Given the description of an element on the screen output the (x, y) to click on. 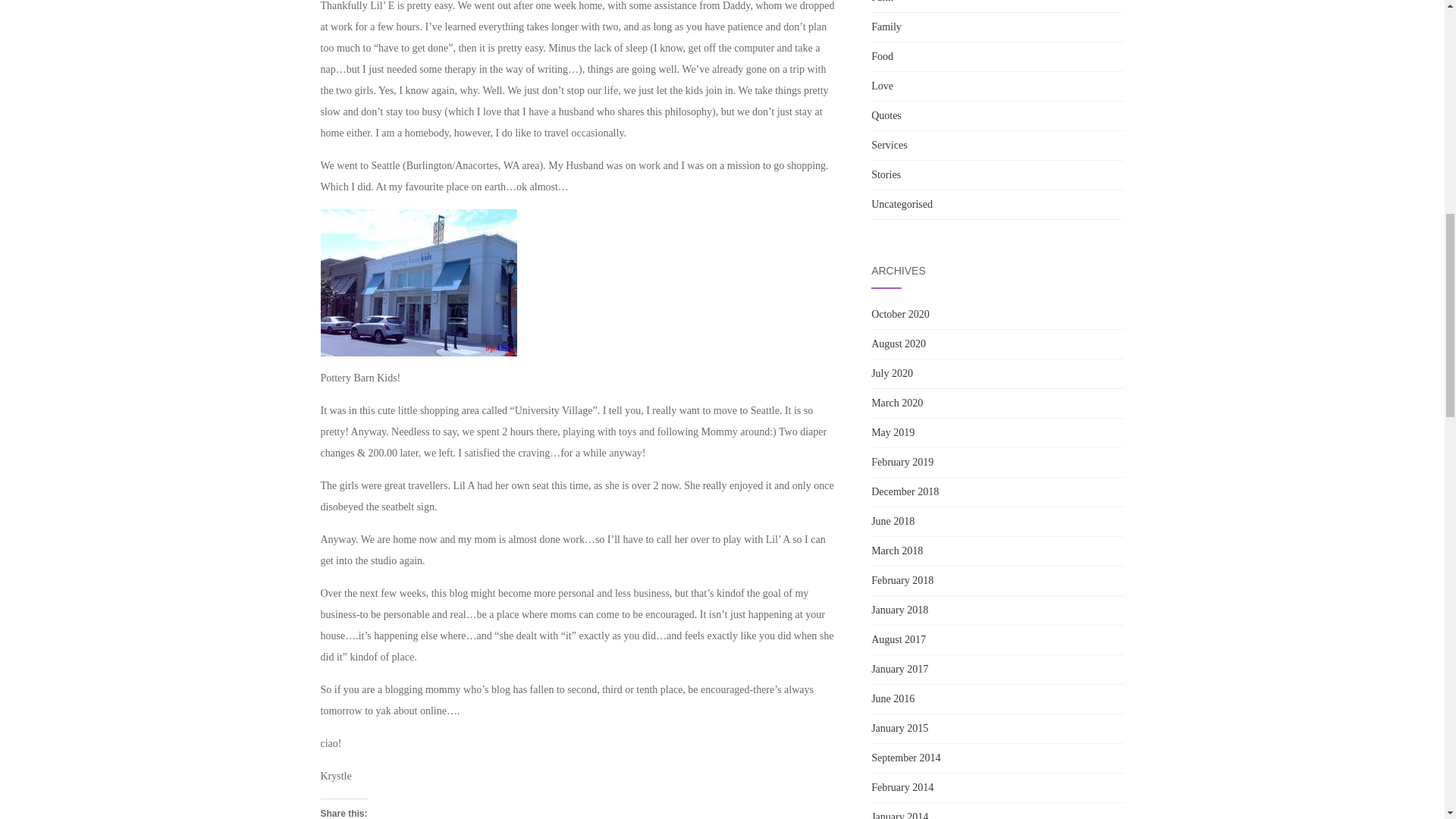
Love (881, 85)
Family (885, 26)
Food (881, 56)
Faith (881, 1)
